Given the description of an element on the screen output the (x, y) to click on. 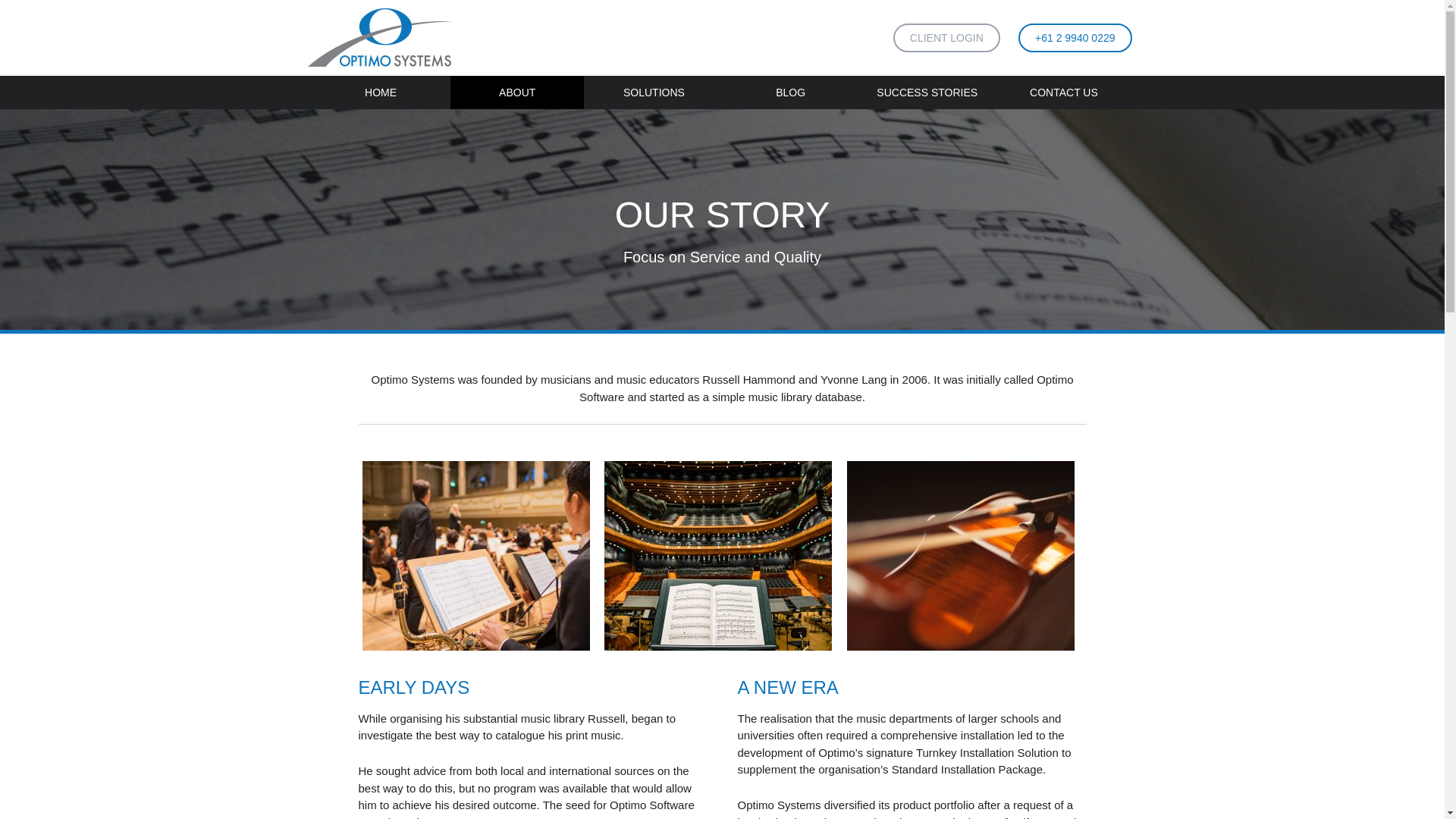
SUCCESS STORIES (927, 92)
SOLUTIONS (653, 92)
CLIENT LOGIN (946, 37)
BLOG (790, 92)
HOME (380, 92)
ABOUT (516, 92)
CONTACT US (1064, 92)
